Given the description of an element on the screen output the (x, y) to click on. 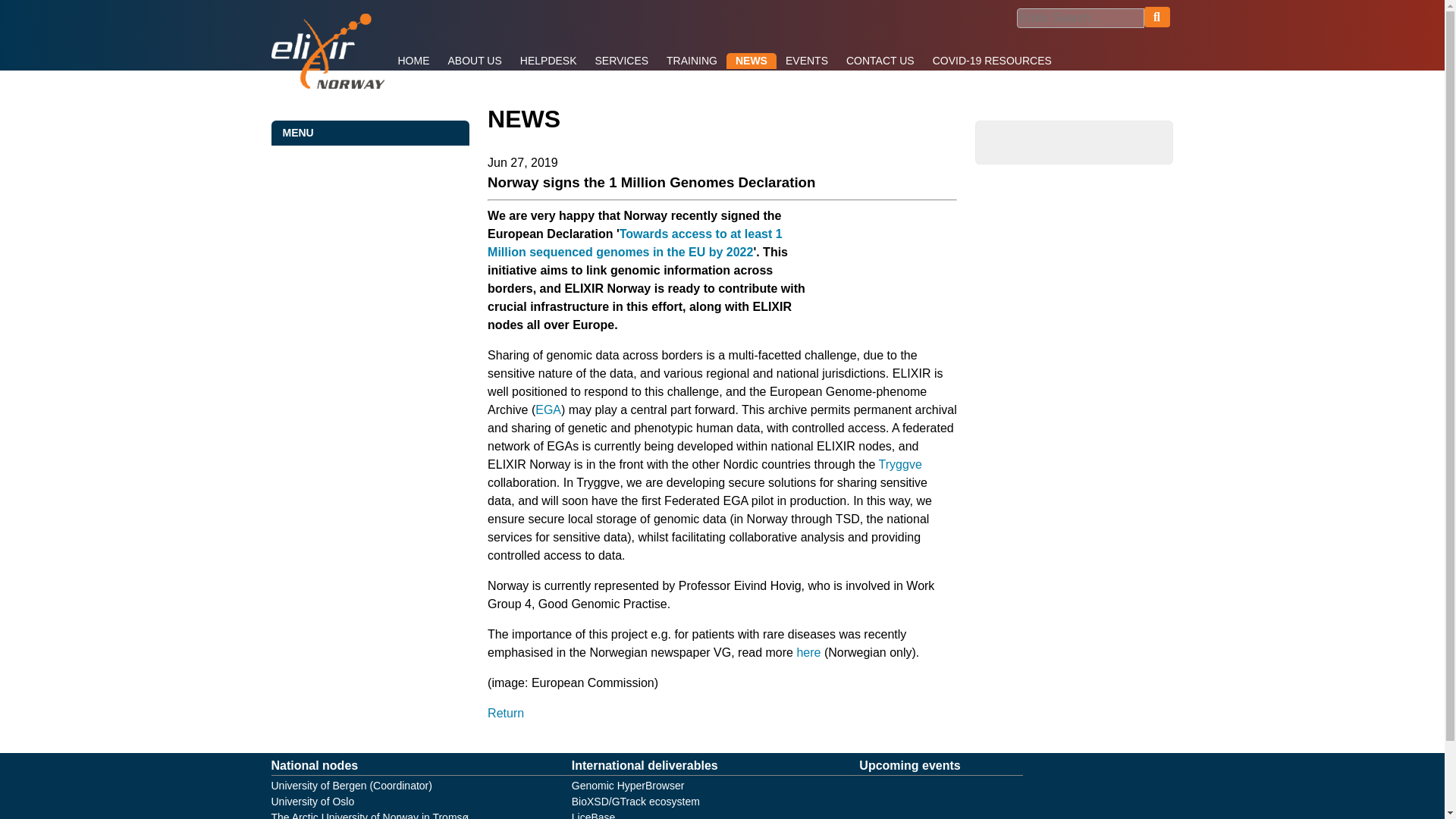
LiceBase (593, 815)
HOME (413, 60)
Return (505, 712)
here (808, 652)
ABOUT US (474, 60)
CONTACT US (880, 60)
University of Oslo (312, 801)
EVENTS (806, 60)
SERVICES (622, 60)
